Given the description of an element on the screen output the (x, y) to click on. 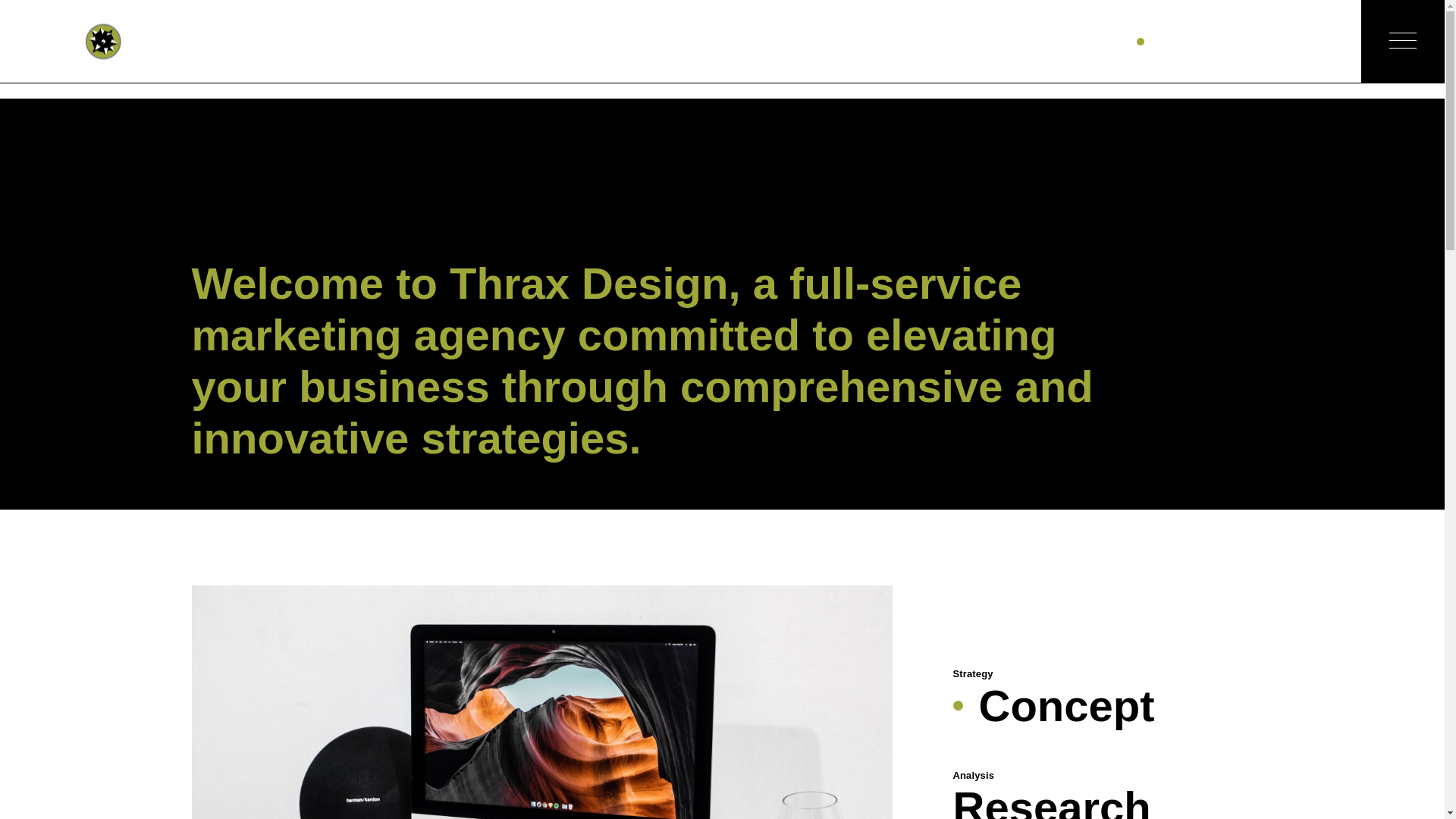
Our Services (923, 41)
